Given the description of an element on the screen output the (x, y) to click on. 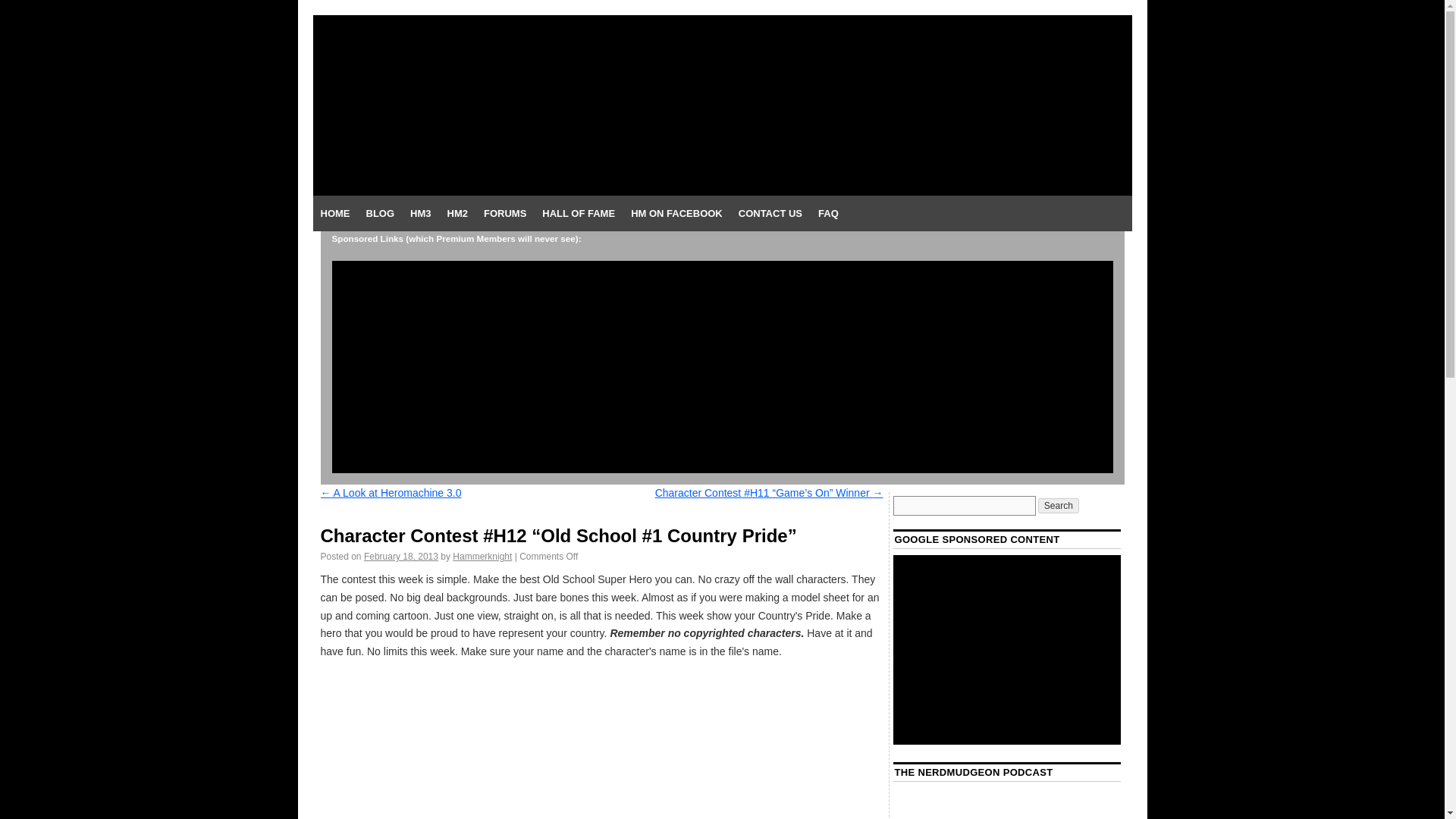
6:00 am (401, 556)
BLOG (379, 213)
CONTACT US (769, 213)
Search (1058, 505)
FORUMS (505, 213)
Advertisement (1007, 649)
Hammerknight (482, 556)
HM3 (420, 213)
February 18, 2013 (401, 556)
Search (1058, 505)
